Given the description of an element on the screen output the (x, y) to click on. 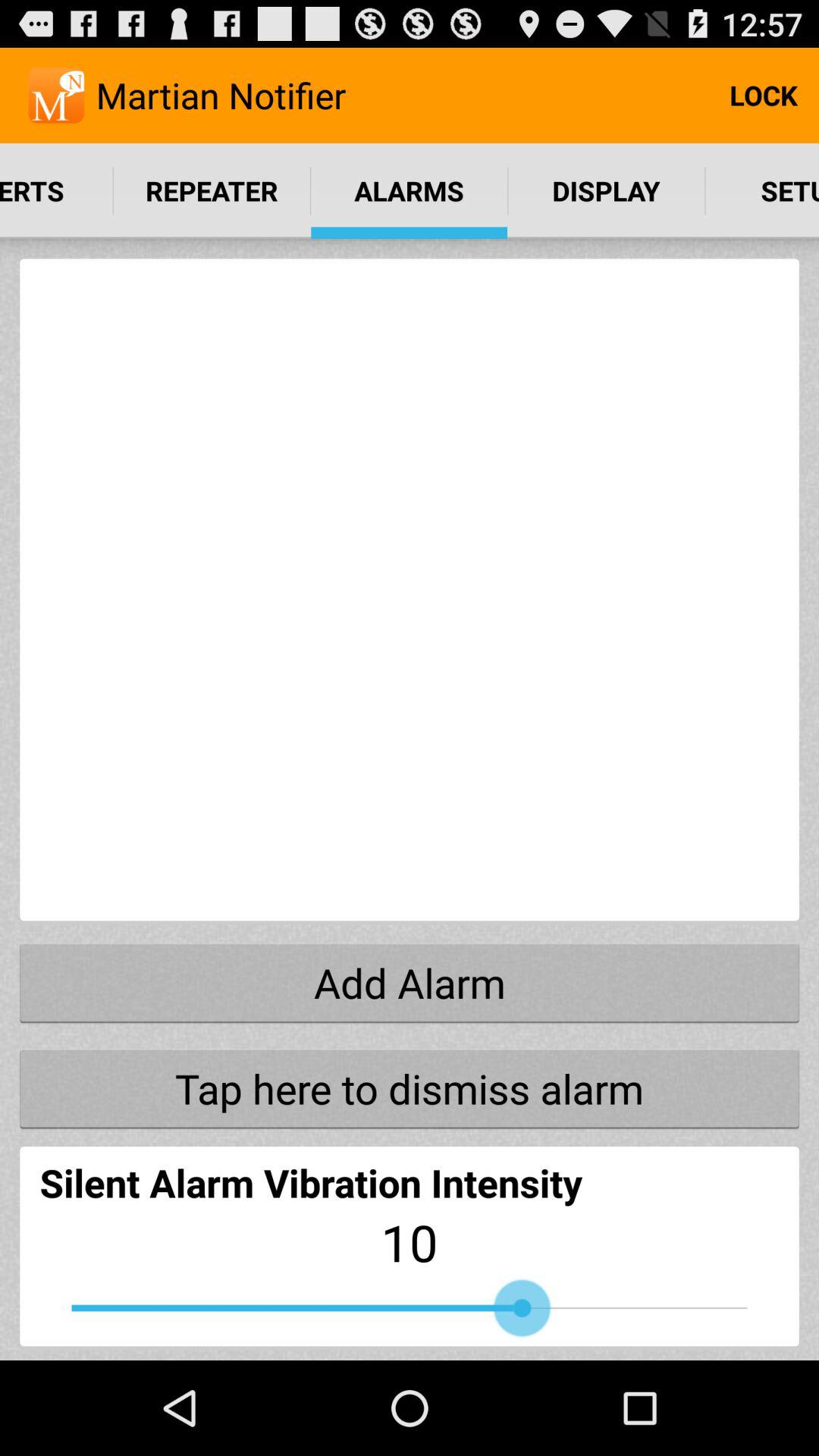
scroll to add alarm item (409, 982)
